Given the description of an element on the screen output the (x, y) to click on. 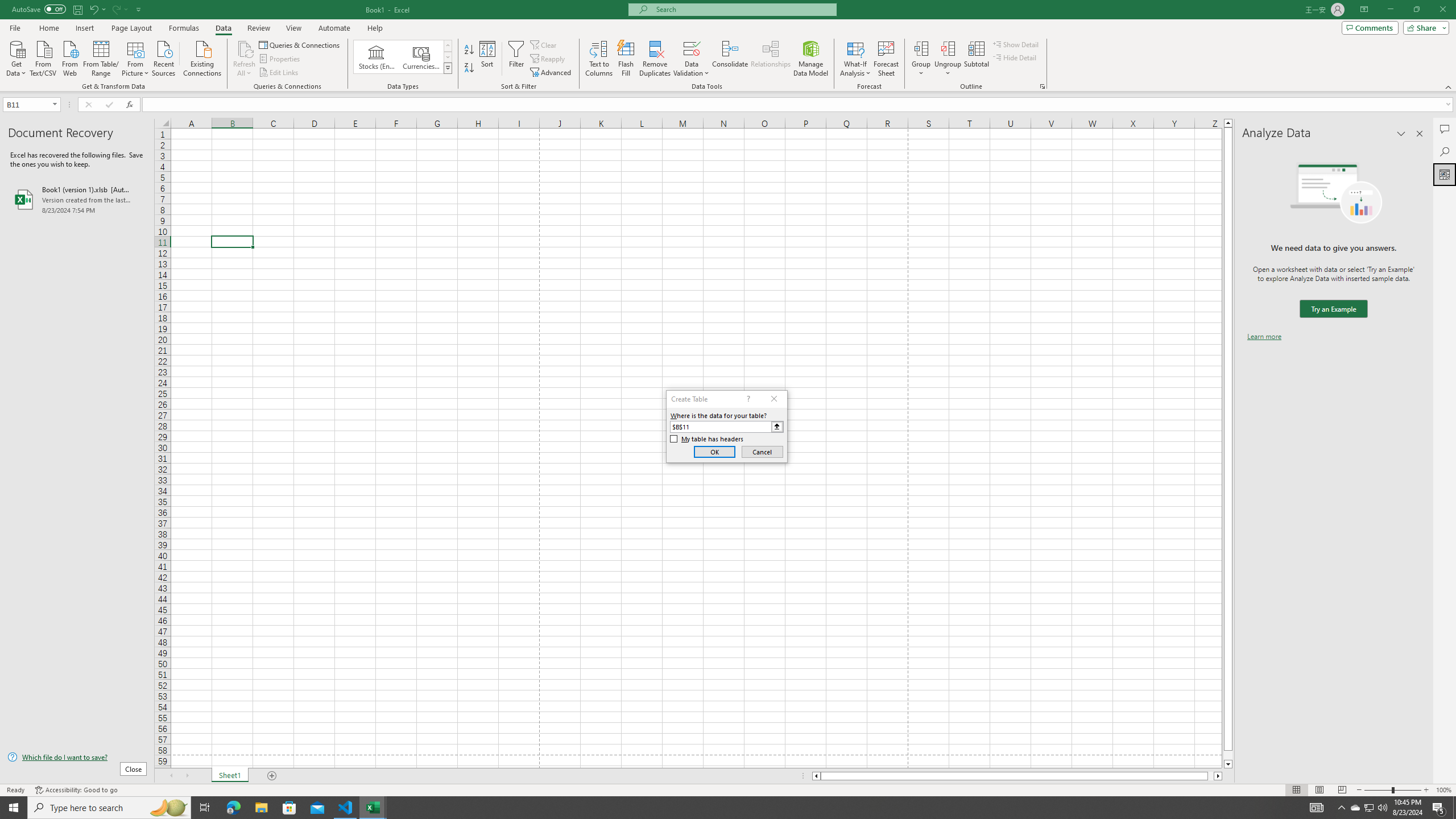
Manage Data Model (810, 58)
Hide Detail (1014, 56)
Show Detail (1016, 44)
What-If Analysis (855, 58)
Class: MsoCommandBar (728, 45)
Formula Bar (799, 104)
We need data to give you answers. Try an Example (1333, 308)
